Given the description of an element on the screen output the (x, y) to click on. 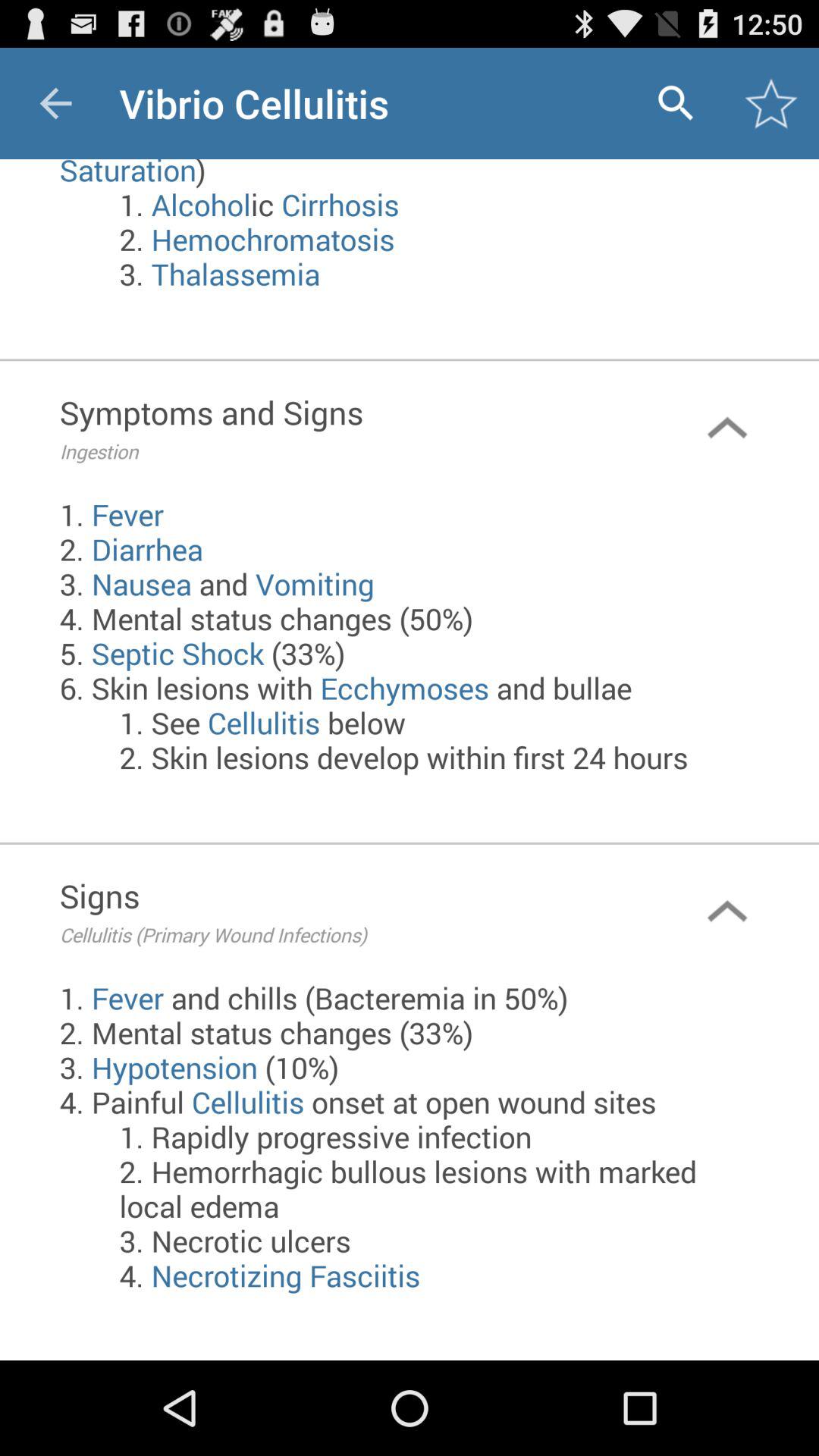
flip until symptoms and signs item (347, 427)
